Given the description of an element on the screen output the (x, y) to click on. 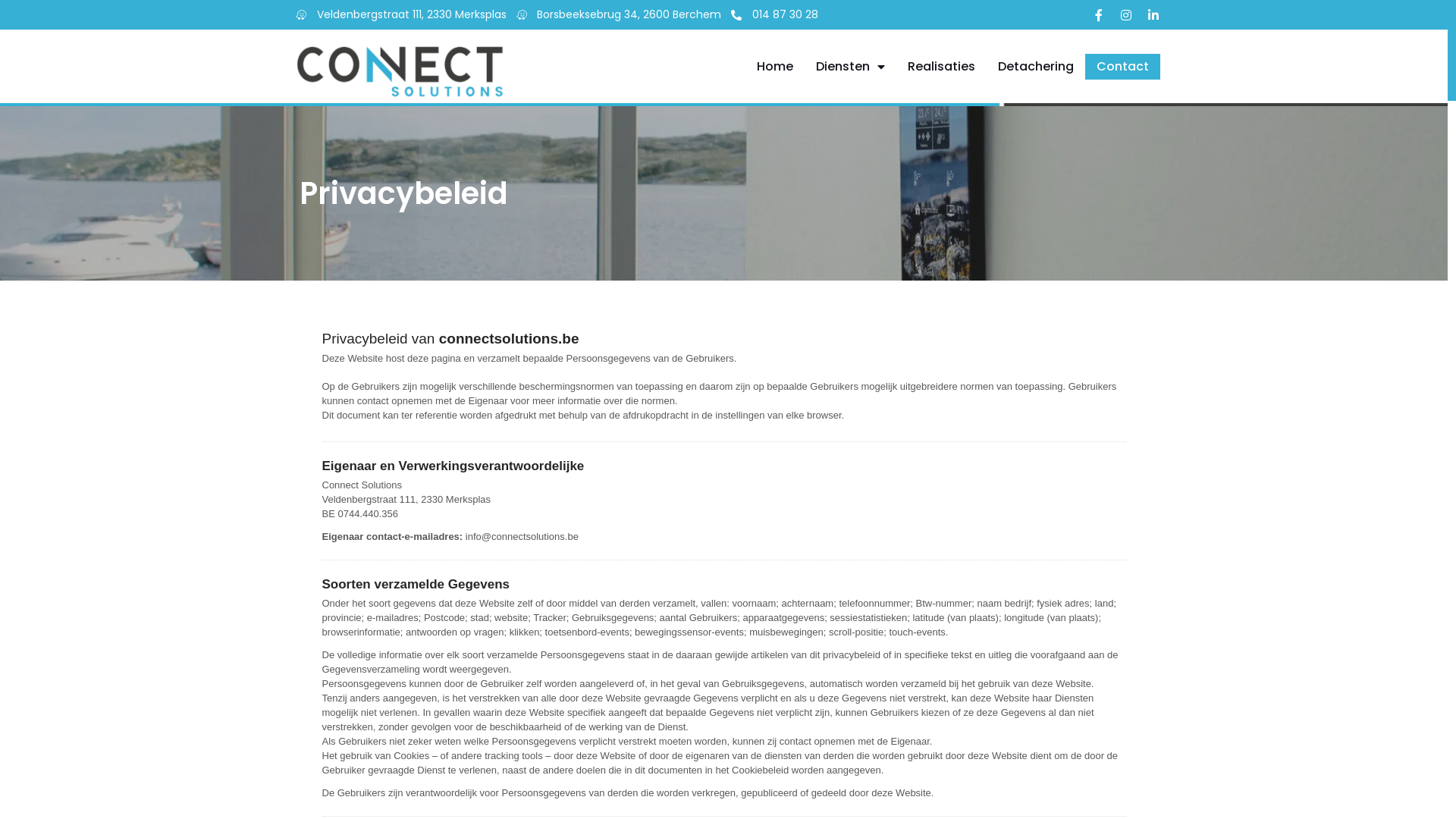
Detachering Element type: text (1035, 66)
Realisaties Element type: text (941, 66)
Borsbeeksebrug 34, 2600 Berchem Element type: text (615, 14)
Diensten Element type: text (850, 66)
014 87 30 28 Element type: text (771, 14)
Contact Element type: text (1122, 66)
Home Element type: text (774, 66)
Veldenbergstraat 111, 2330 Merksplas Element type: text (398, 14)
